Given the description of an element on the screen output the (x, y) to click on. 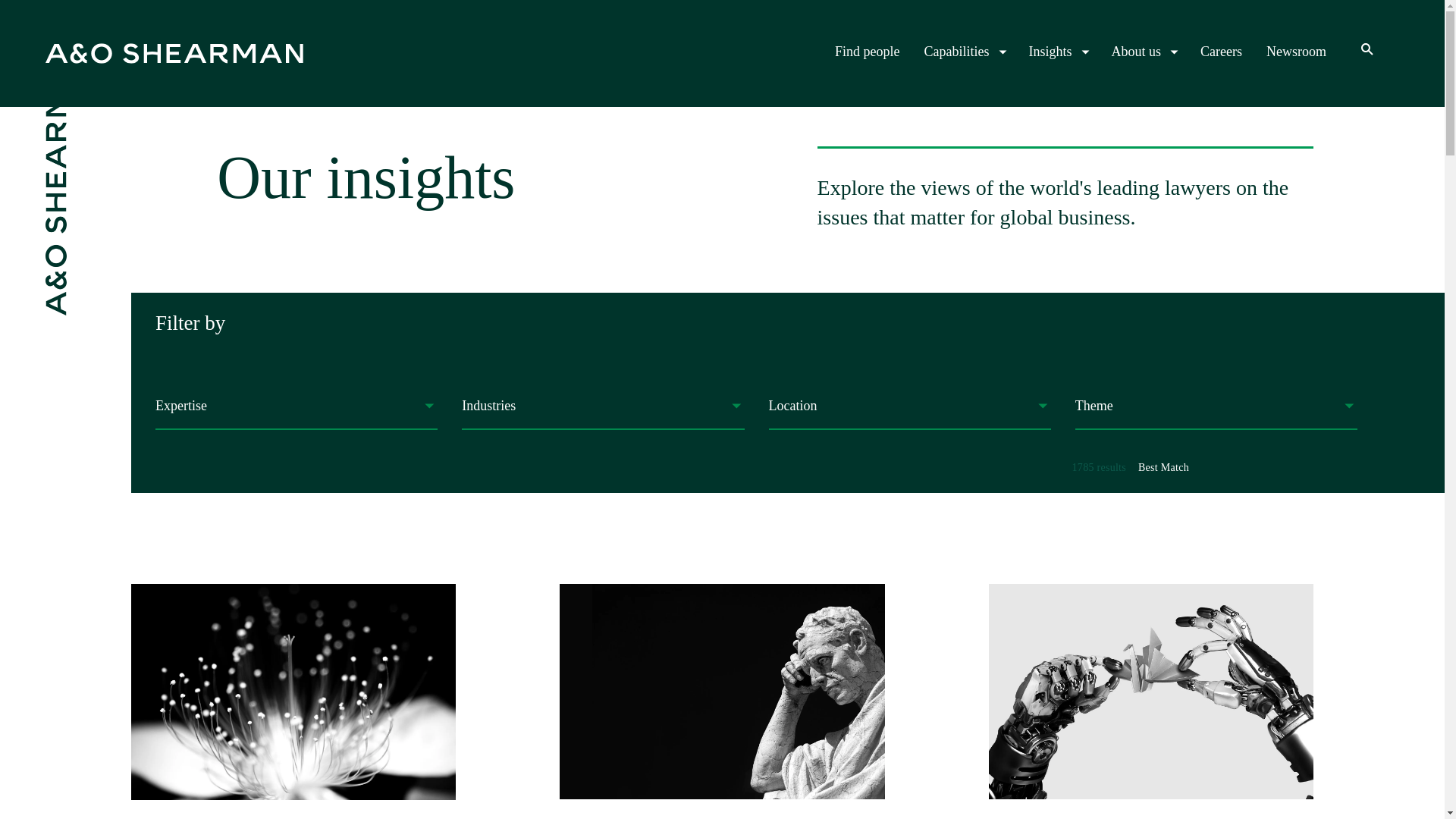
About us (1150, 701)
Careers (1144, 51)
Newsroom (1220, 51)
Capabilities (1296, 51)
Find people (964, 51)
Insights (866, 51)
